Given the description of an element on the screen output the (x, y) to click on. 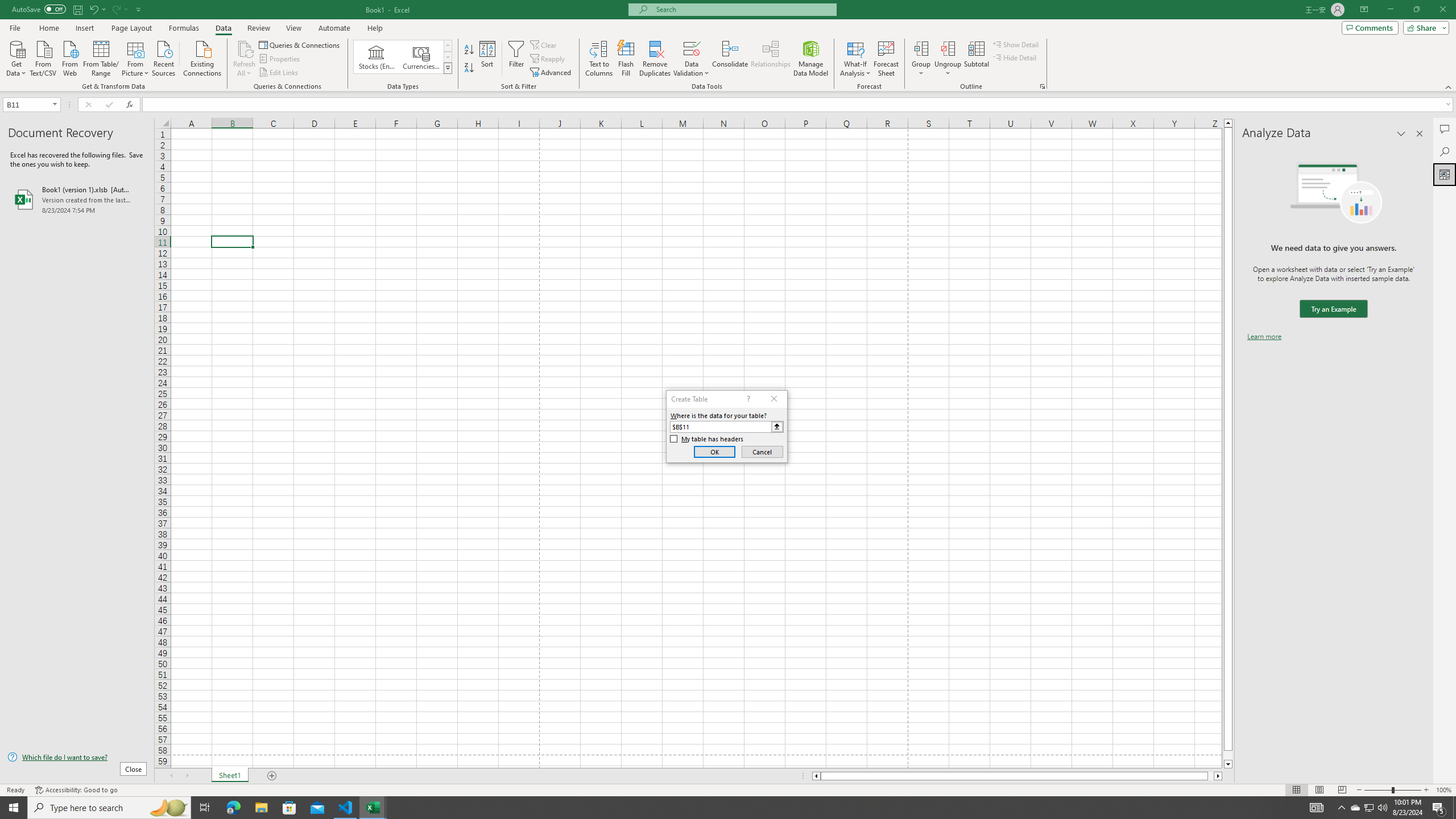
Properties (280, 58)
Flash Fill (625, 58)
Text to Columns... (598, 58)
Which file do I want to save? (77, 757)
Close pane (1419, 133)
Data Types (448, 67)
Queries & Connections (300, 44)
Search (1444, 151)
Group and Outline Settings (1042, 85)
